Given the description of an element on the screen output the (x, y) to click on. 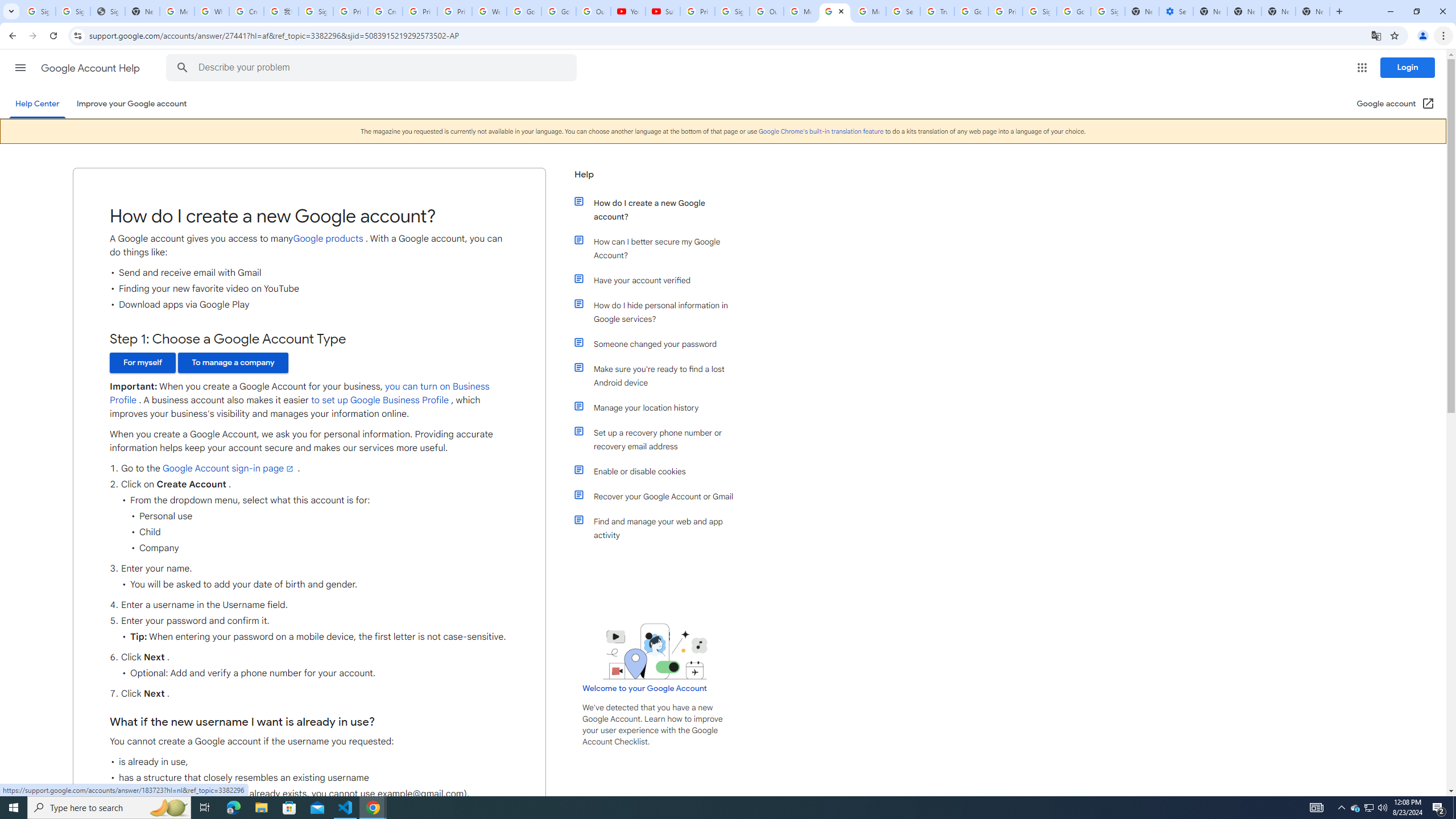
Find and manage your web and app activity (661, 528)
Enable or disable cookies (661, 471)
YouTube (627, 11)
Manage your location history (661, 407)
Sign In - USA TODAY (107, 11)
Learning Center home page image (655, 651)
How do I hide personal information in Google services? (661, 312)
Set up a recovery phone number or recovery email address (661, 439)
To manage a company (232, 362)
Google Account Help (91, 68)
